Given the description of an element on the screen output the (x, y) to click on. 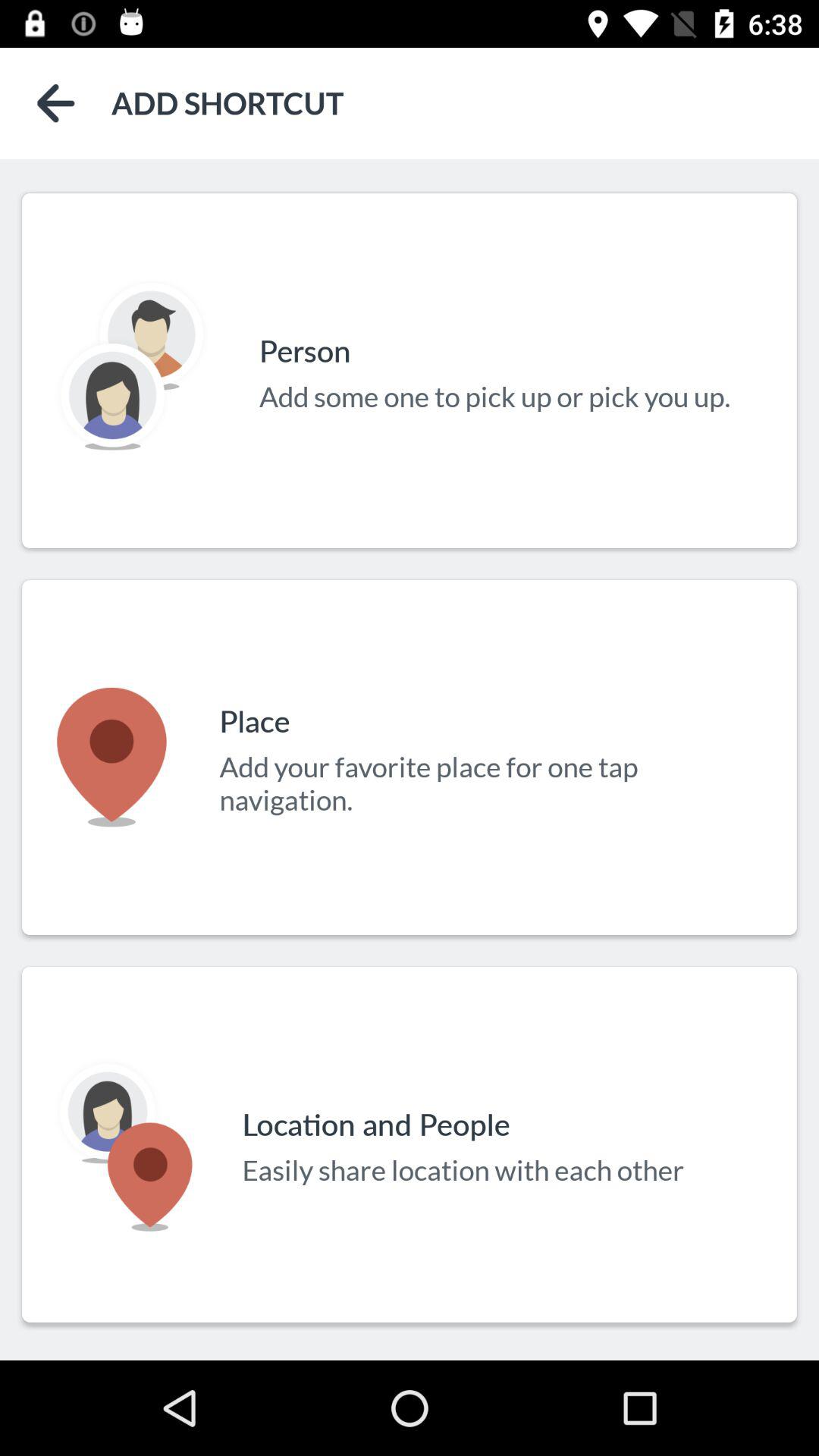
back to previous page (55, 103)
